Given the description of an element on the screen output the (x, y) to click on. 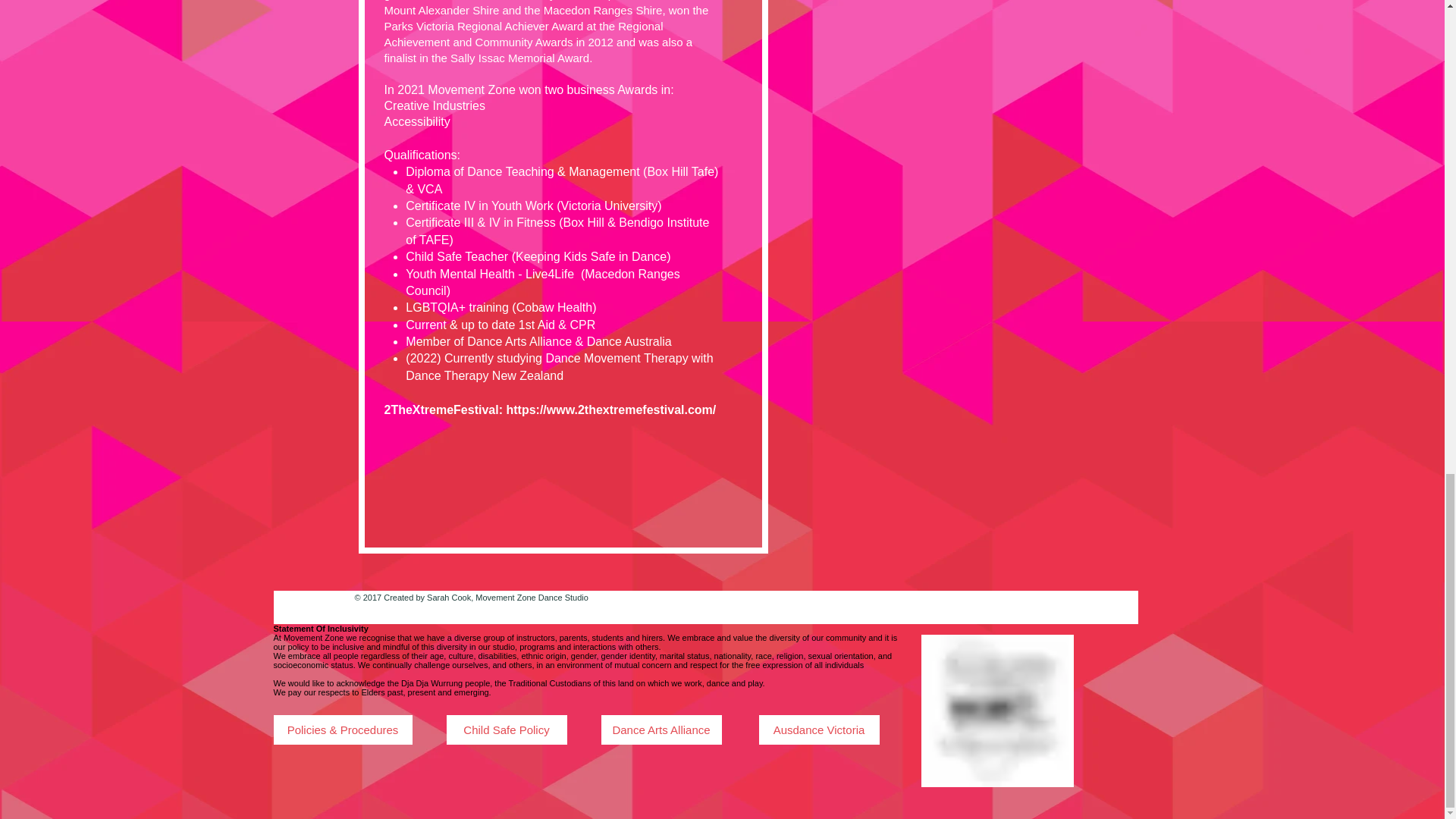
Dance Arts Alliance (659, 729)
Child Safe Policy (505, 729)
Ausdance Victoria (818, 729)
